Given the description of an element on the screen output the (x, y) to click on. 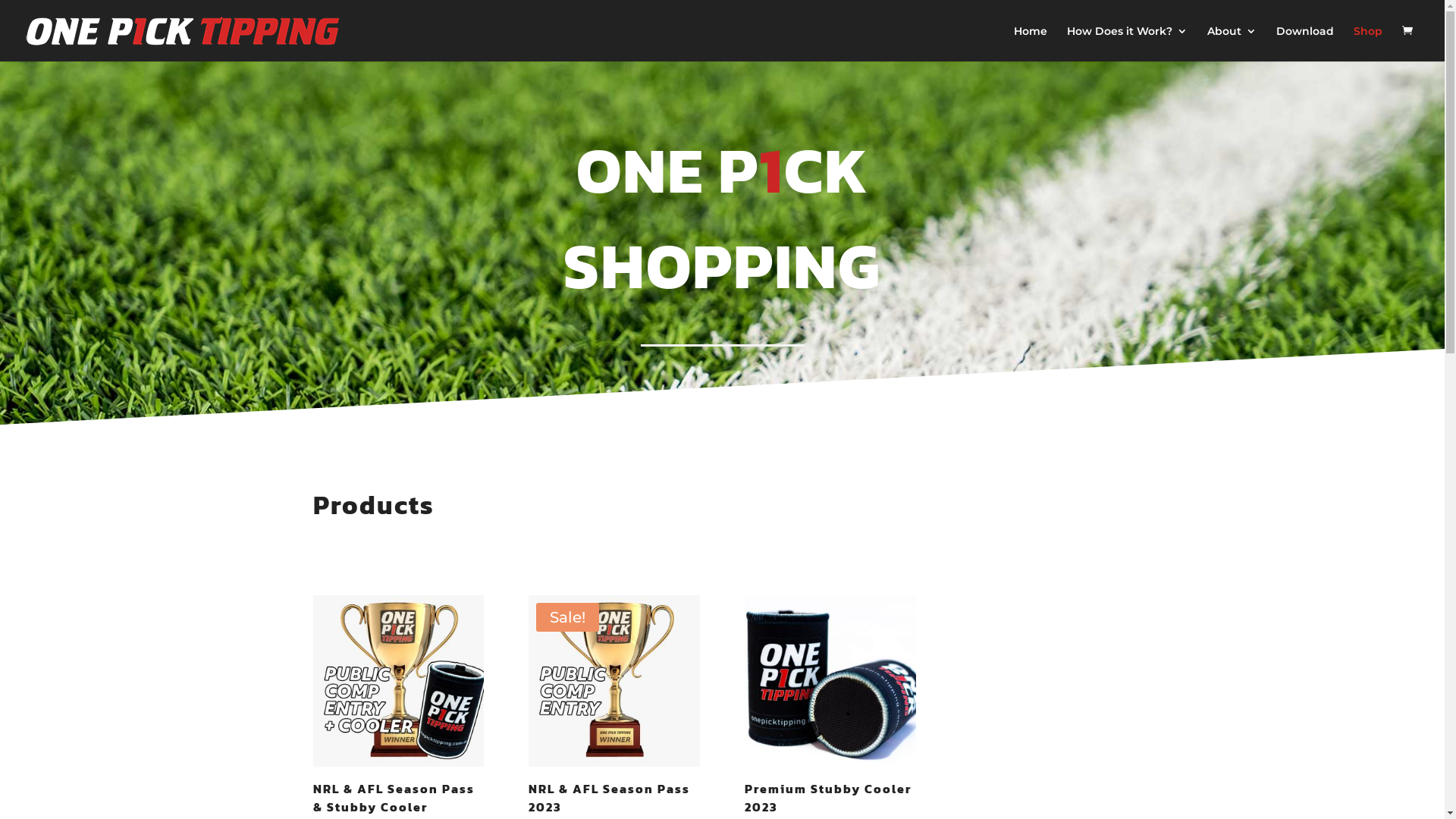
About Element type: text (1231, 43)
Shop Element type: text (1367, 43)
Home Element type: text (1030, 43)
How Does it Work? Element type: text (1126, 43)
Download Element type: text (1304, 43)
